Given the description of an element on the screen output the (x, y) to click on. 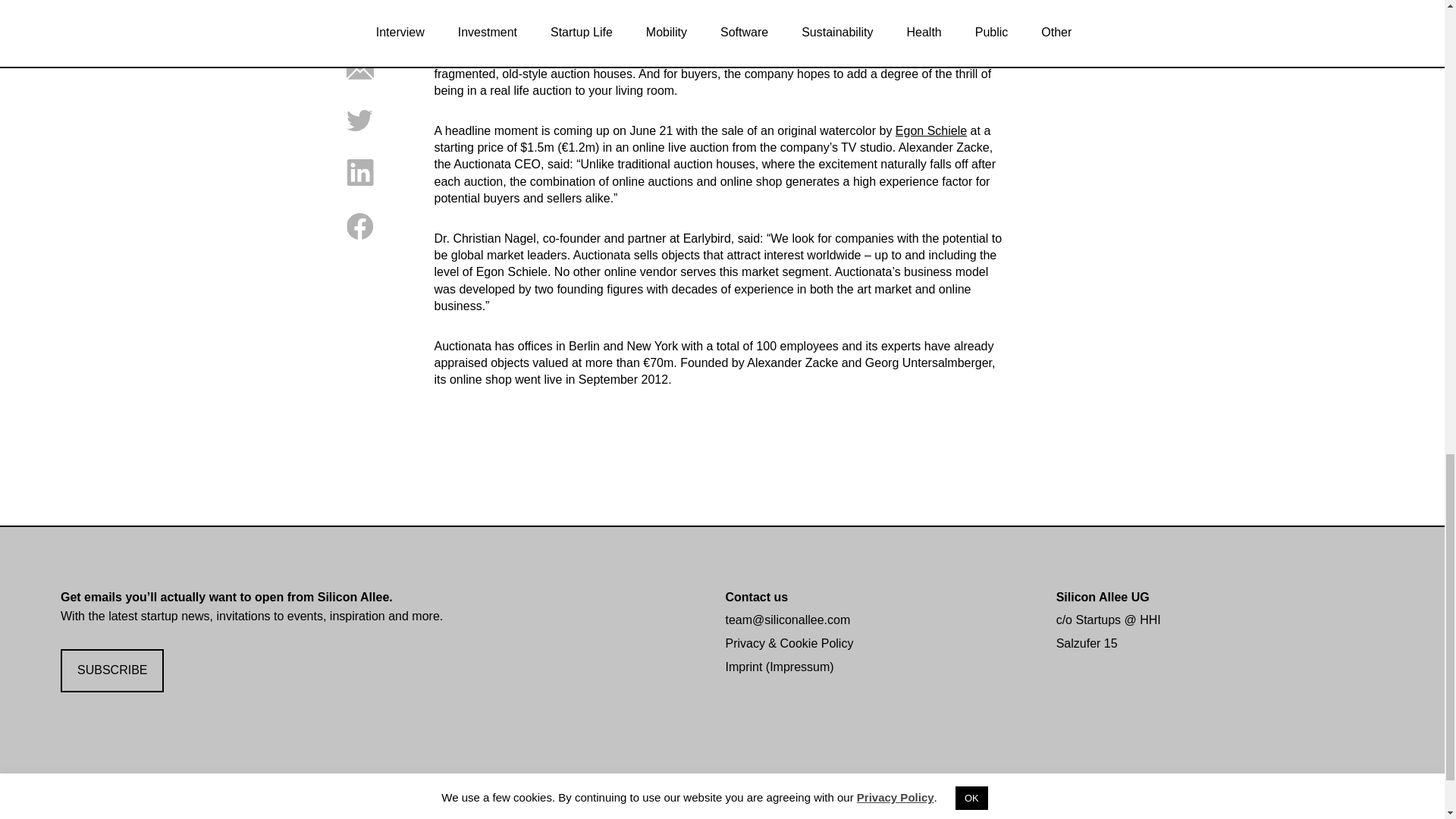
Egon Schiele (930, 130)
SUBSCRIBE (112, 670)
Contact us (756, 596)
Silicon Allee UG (1103, 596)
Salzufer 15 (1087, 643)
